Given the description of an element on the screen output the (x, y) to click on. 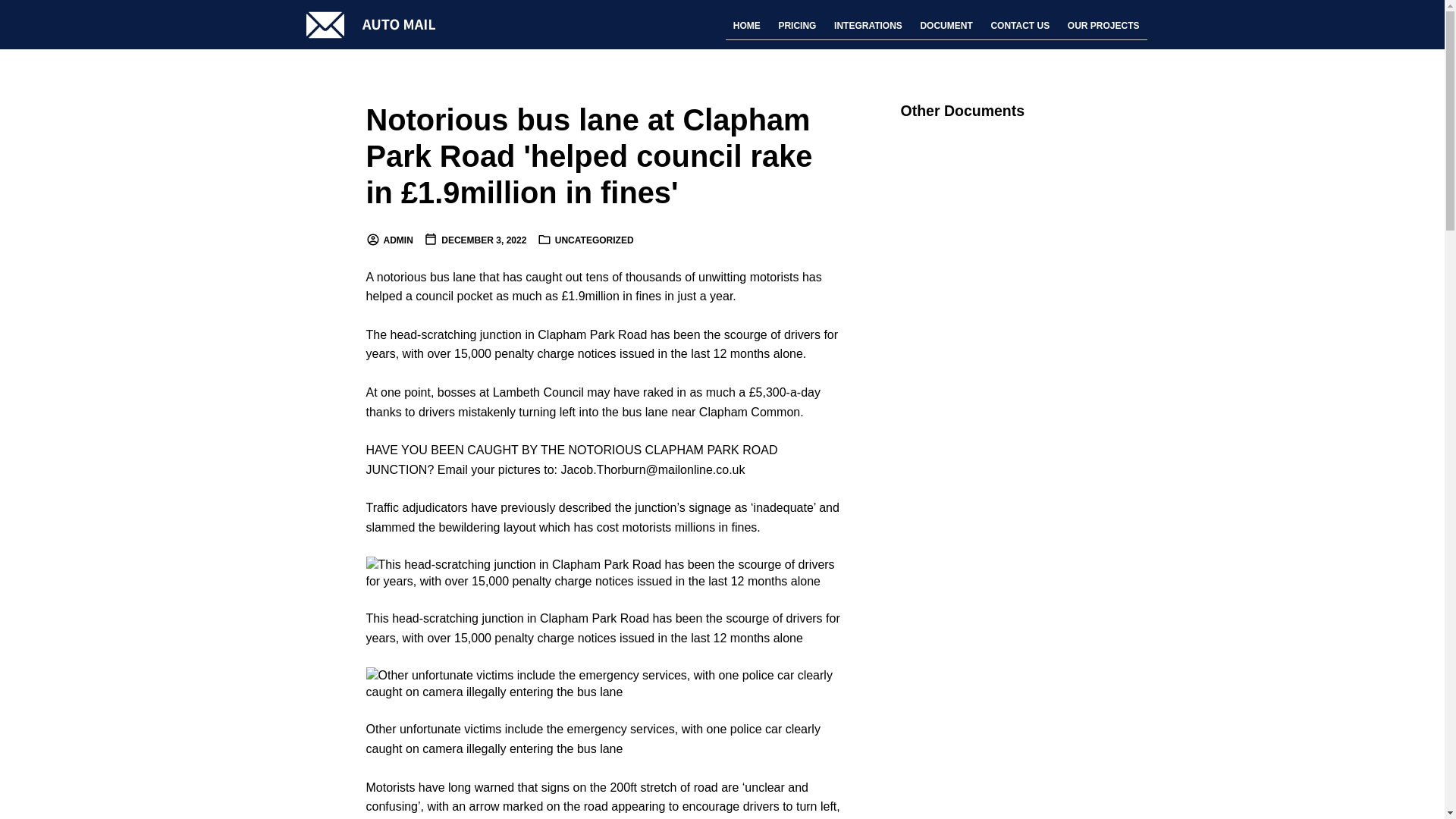
OUR PROJECTS (1103, 26)
DOCUMENT (945, 26)
HOME (746, 26)
11:21 pm (474, 240)
CONTACT US (1019, 26)
ADMIN (388, 240)
UNCATEGORIZED (593, 240)
INTEGRATIONS (868, 26)
DECEMBER 3, 2022 (474, 240)
PRICING (797, 26)
